Given the description of an element on the screen output the (x, y) to click on. 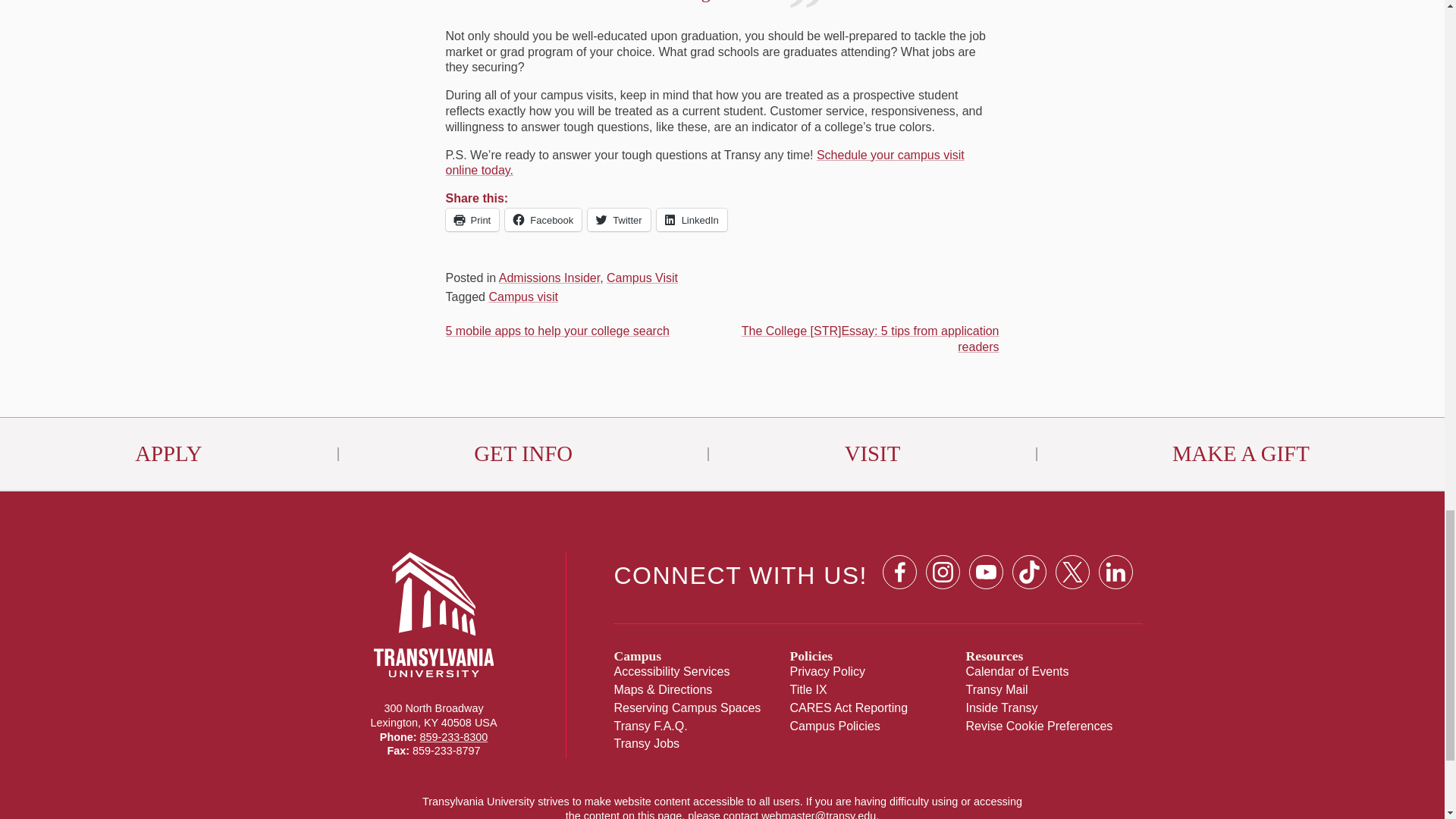
Click to print (472, 219)
Transylvania University (433, 662)
Click to share on Facebook (542, 219)
Schedule your campus visit online today. (704, 162)
Click to share on Twitter (618, 219)
Click to share on LinkedIn (691, 219)
